Given the description of an element on the screen output the (x, y) to click on. 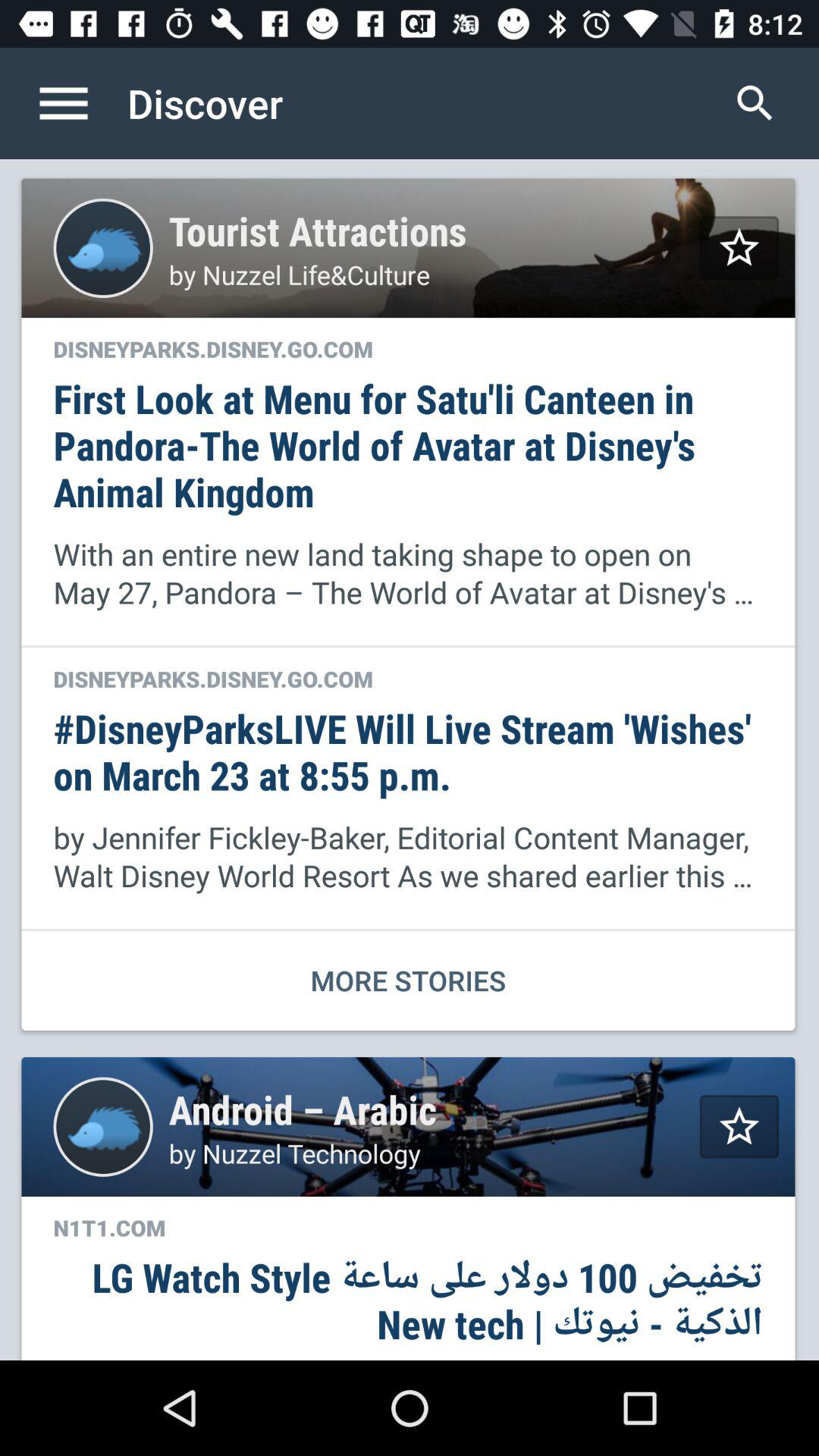
select more stories icon (408, 980)
